Given the description of an element on the screen output the (x, y) to click on. 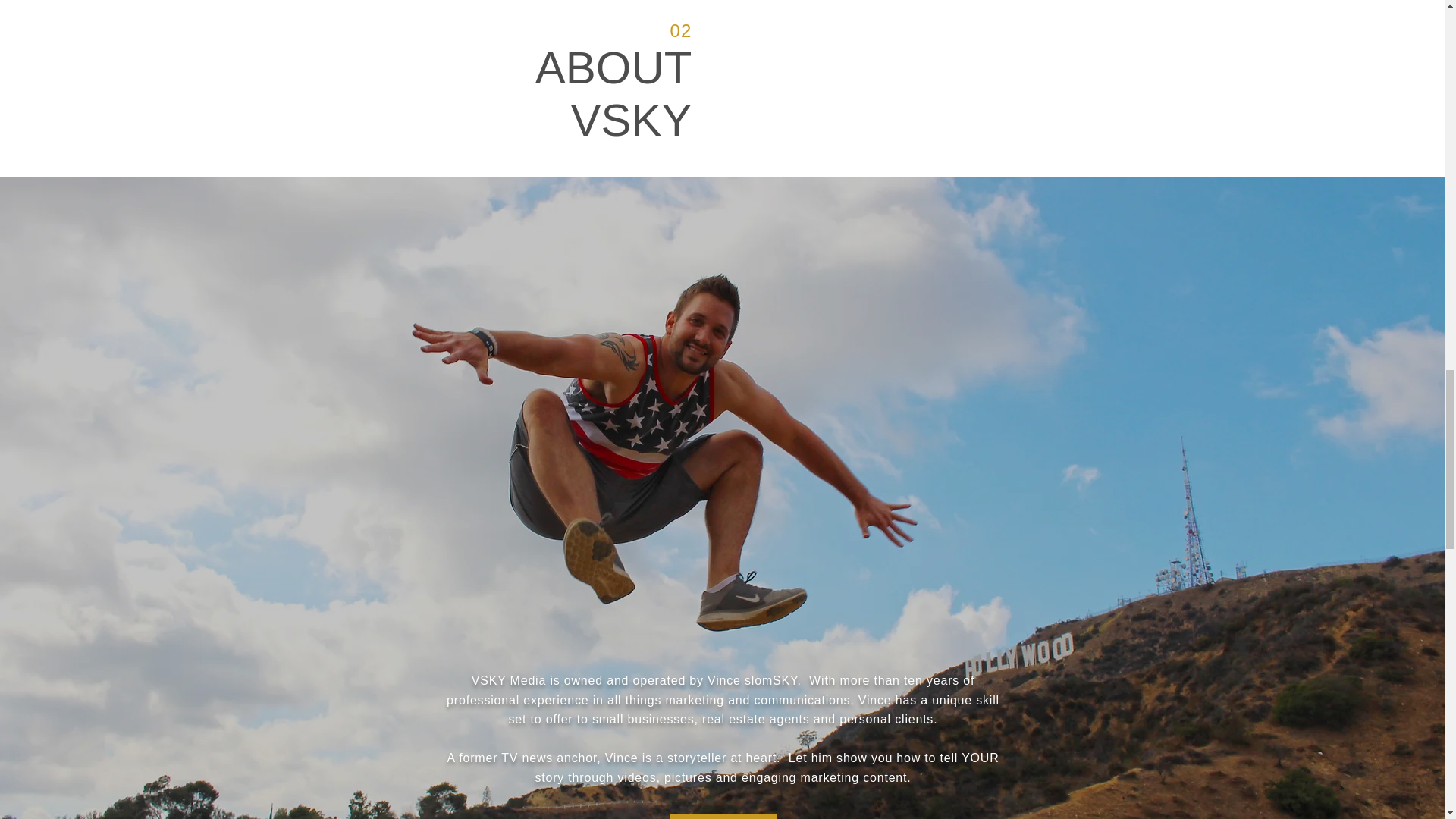
LEARN MORE (722, 816)
